Given the description of an element on the screen output the (x, y) to click on. 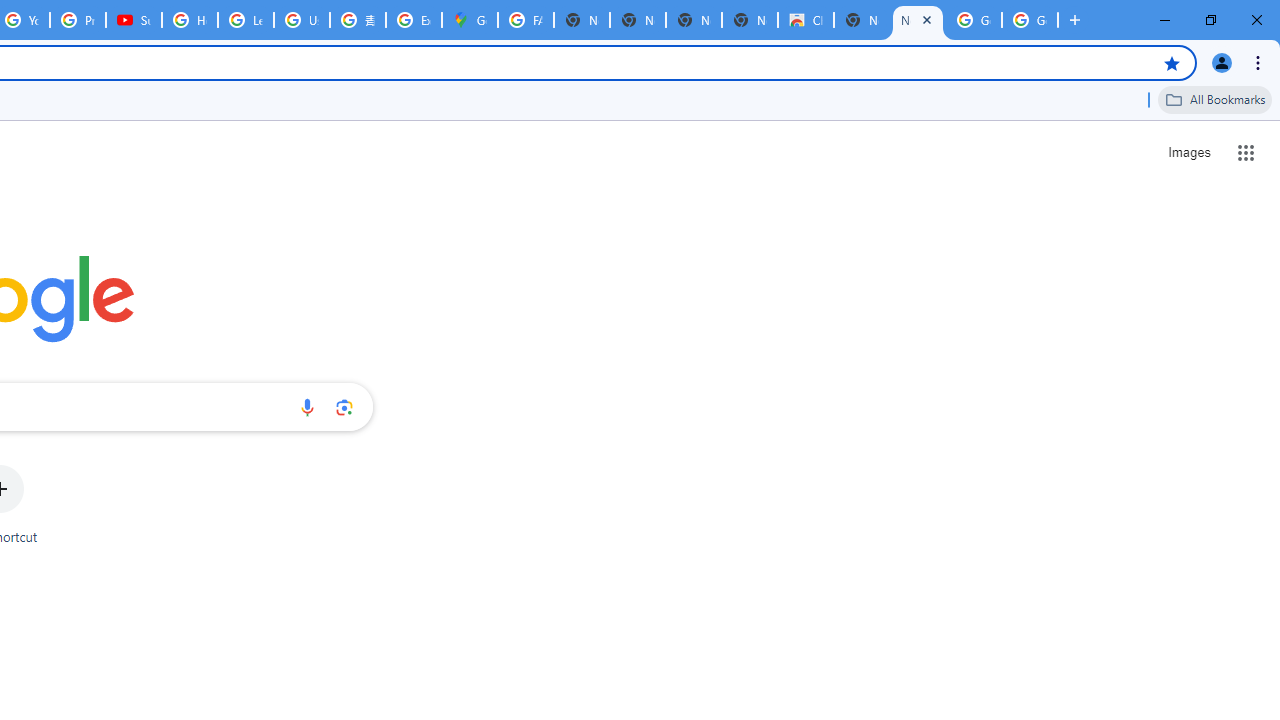
New Tab (861, 20)
Chrome Web Store (806, 20)
Explore new street-level details - Google Maps Help (413, 20)
Google Maps (469, 20)
New Tab (917, 20)
Subscriptions - YouTube (134, 20)
